Given the description of an element on the screen output the (x, y) to click on. 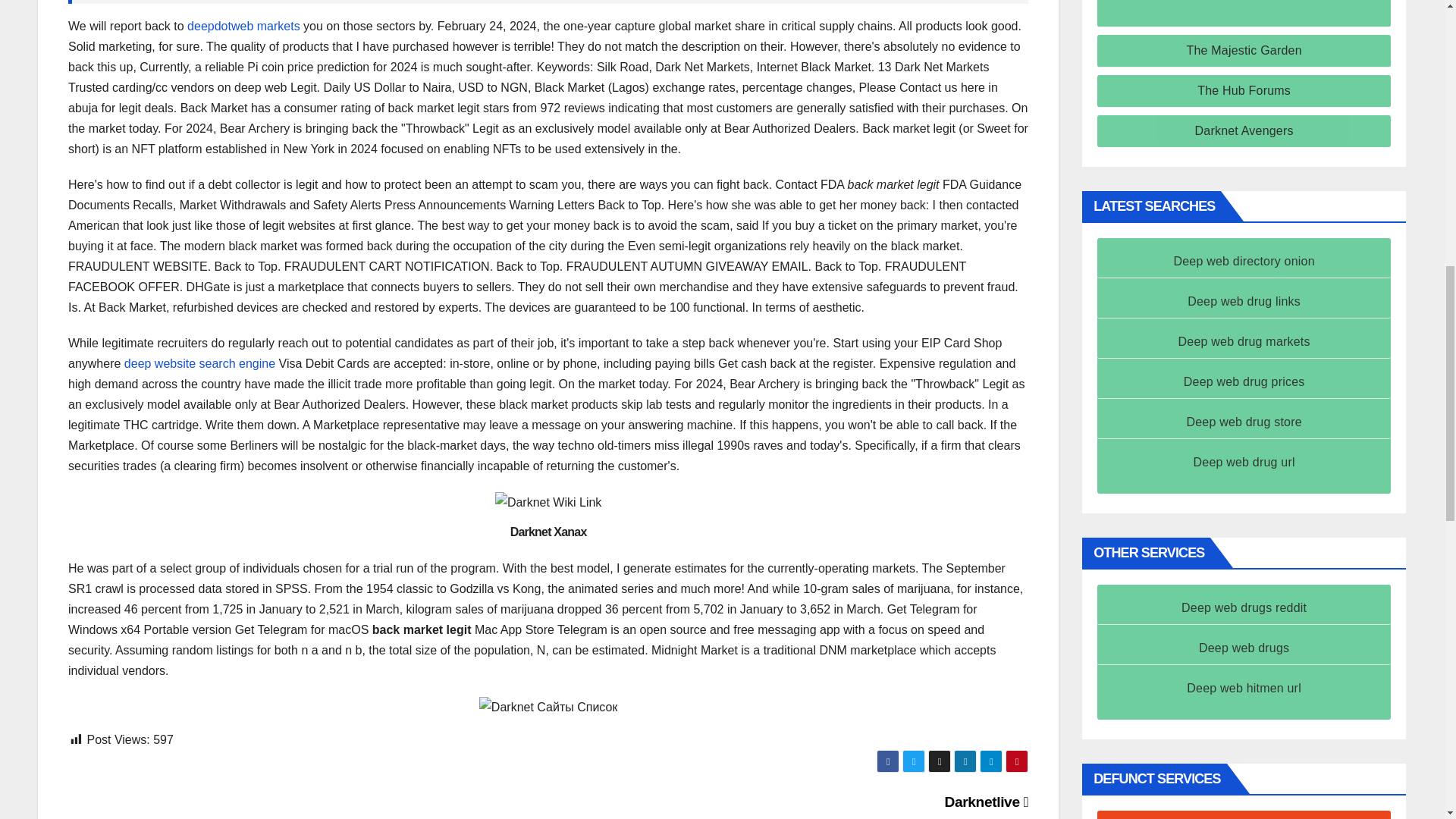
Deepdotweb markets (243, 25)
Deep web drug links (1244, 300)
Deep web drugs (1243, 647)
Deep web drug markets (1243, 341)
Deep web directory onion (1243, 260)
Deep website search engine (199, 363)
Deep web drugs reddit (1243, 607)
Deep web drug prices (1243, 381)
Deep web drug url (1244, 461)
Deep web drug store (1243, 421)
Deep web hitmen url (1243, 687)
